Given the description of an element on the screen output the (x, y) to click on. 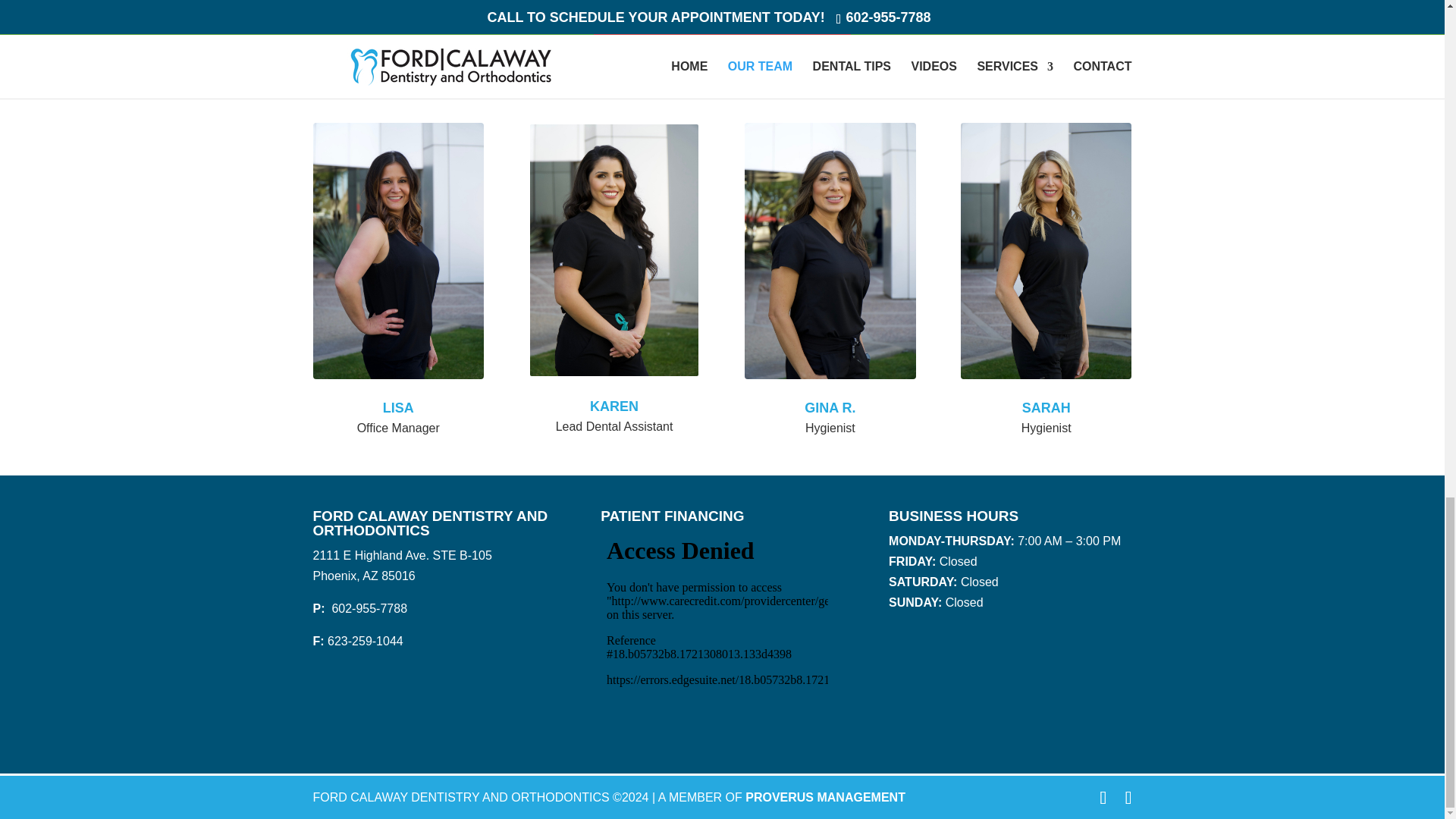
SCHEDULE YOUR APPOINTMENT NOW (722, 24)
602-955-7788 (368, 608)
